Given the description of an element on the screen output the (x, y) to click on. 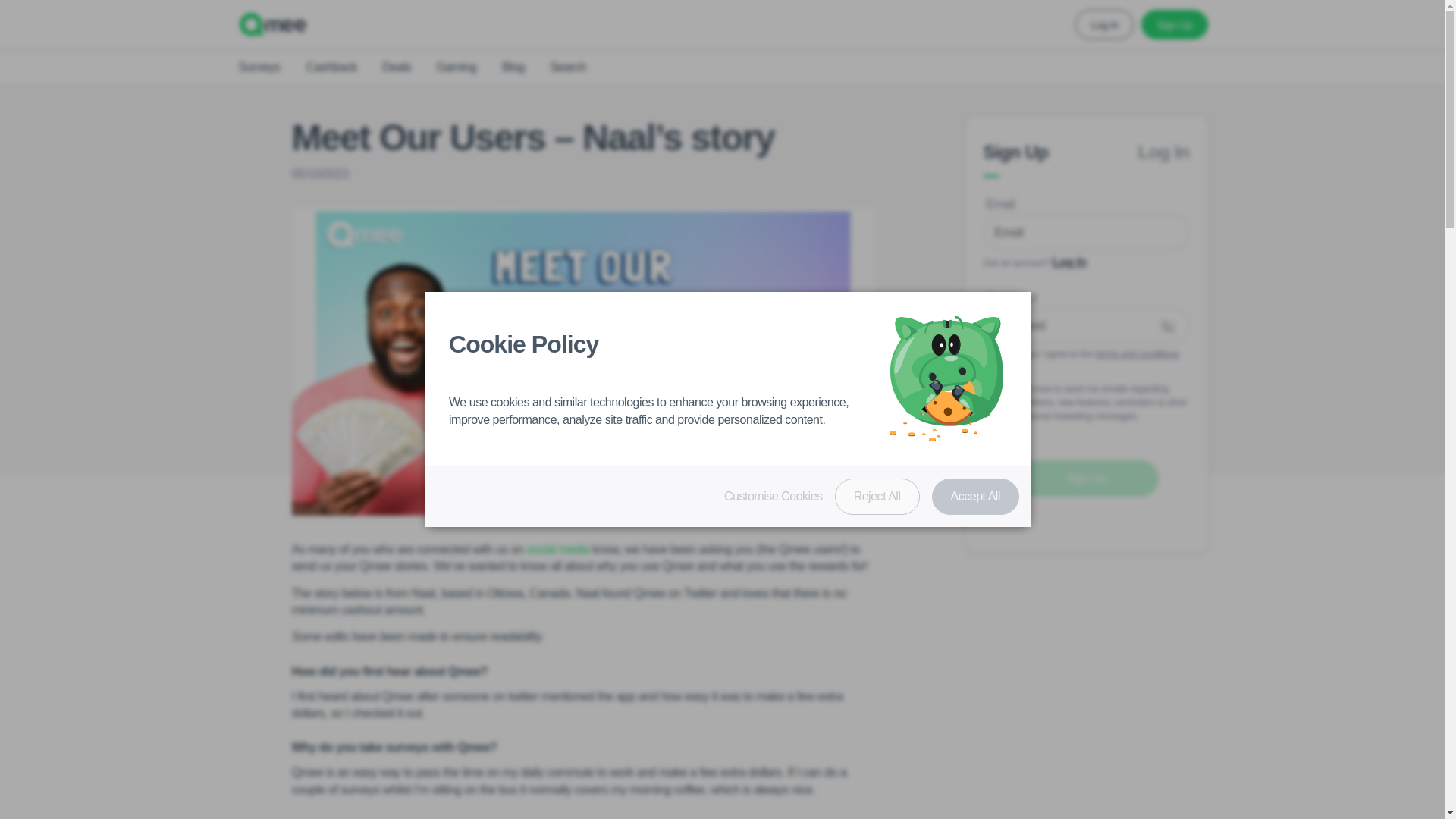
terms and conditions (1137, 353)
Log In (1069, 262)
on (987, 402)
Search (568, 67)
Cashback (331, 67)
Sign Up (1085, 478)
Sign Up (1015, 154)
Sign Up (1174, 23)
Log In (1163, 154)
Log In (1104, 23)
Surveys (258, 67)
Deals (396, 67)
Gaming (455, 67)
Blog (512, 67)
social media (557, 549)
